Given the description of an element on the screen output the (x, y) to click on. 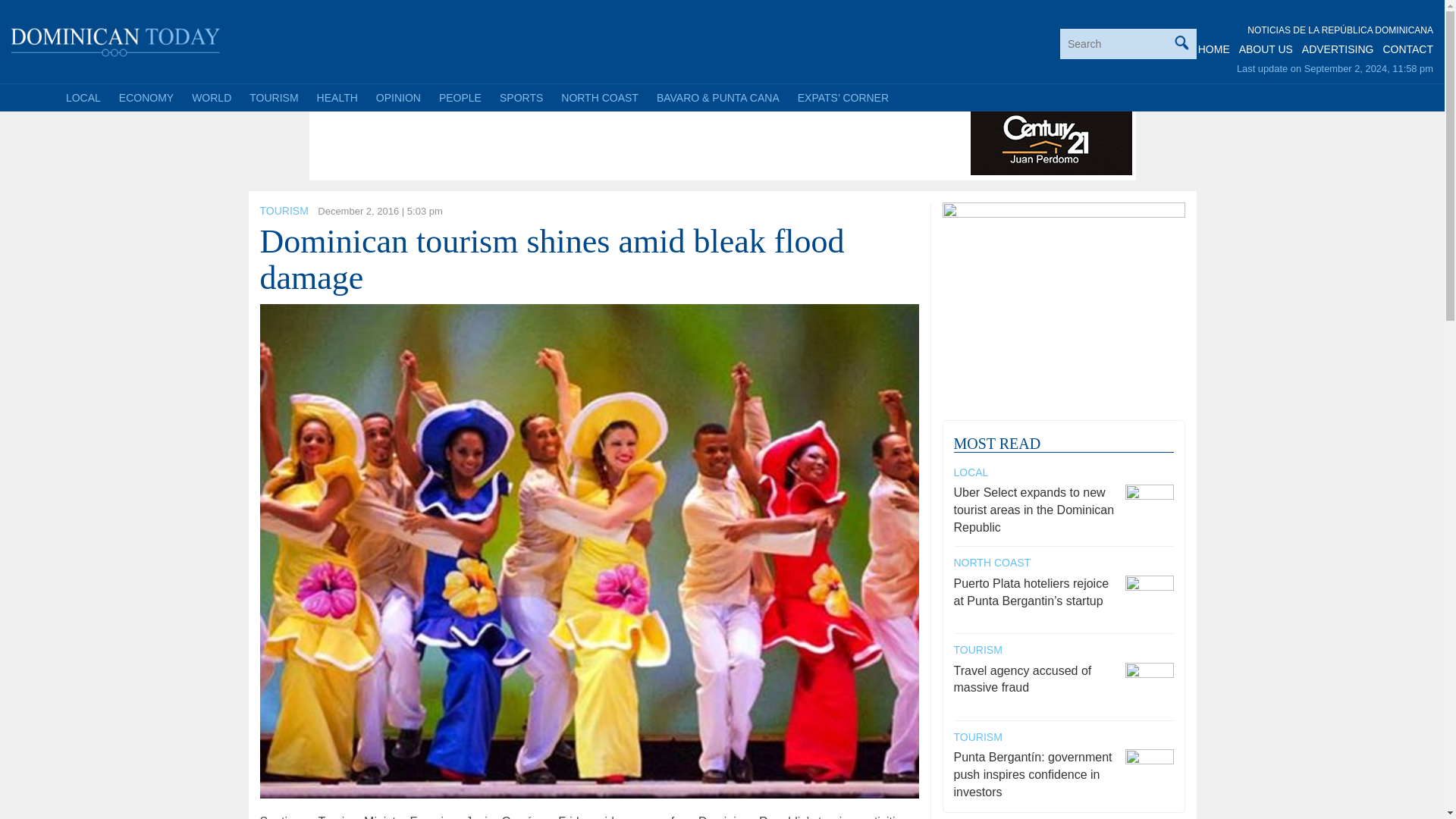
SPORTS (520, 97)
PEOPLE (459, 97)
Dominican Today News - Santo Domingo and Dominican Republic (116, 38)
HEALTH (336, 97)
LOCAL (83, 97)
TOURISM (283, 210)
WORLD (211, 97)
HOME (1214, 49)
CONTACT (1406, 49)
